Given the description of an element on the screen output the (x, y) to click on. 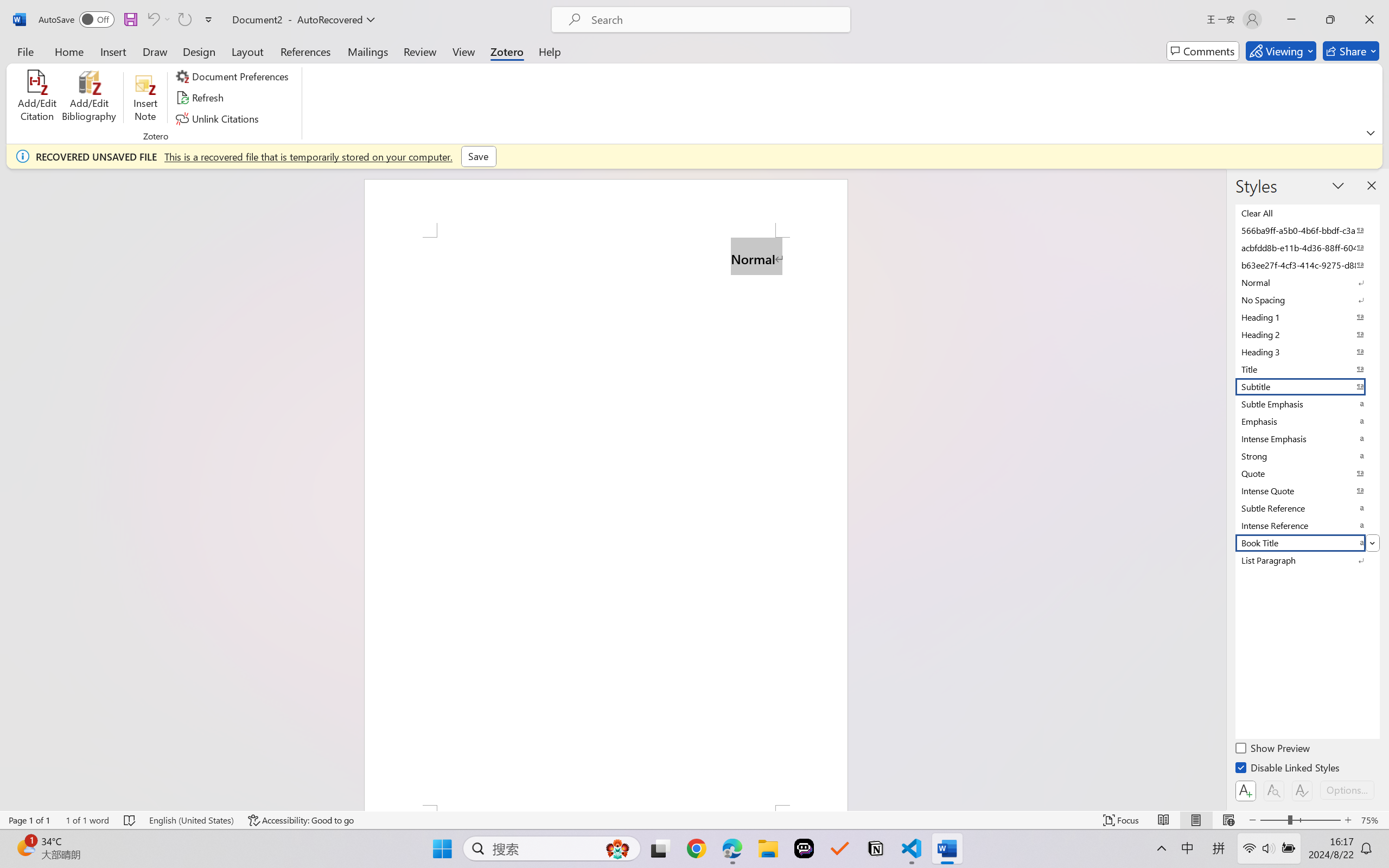
Heading 3 (1306, 352)
Show Preview (1273, 749)
Page 1 content (605, 521)
Class: NetUIScrollBar (1219, 489)
Subtitle (1306, 386)
Quote (1306, 473)
Strong (1306, 456)
Add/Edit Citation (37, 97)
